Given the description of an element on the screen output the (x, y) to click on. 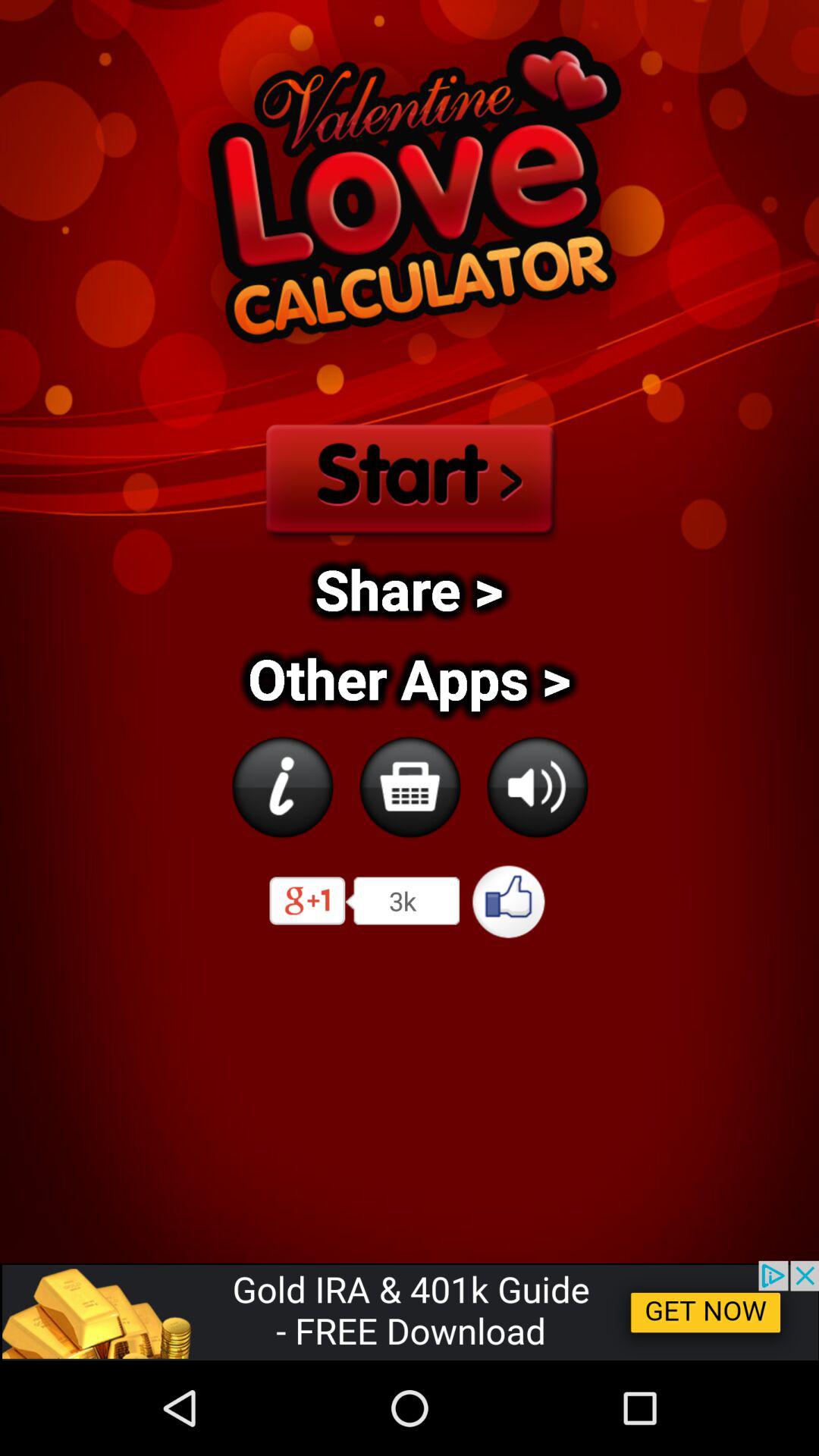
start (408, 476)
